Given the description of an element on the screen output the (x, y) to click on. 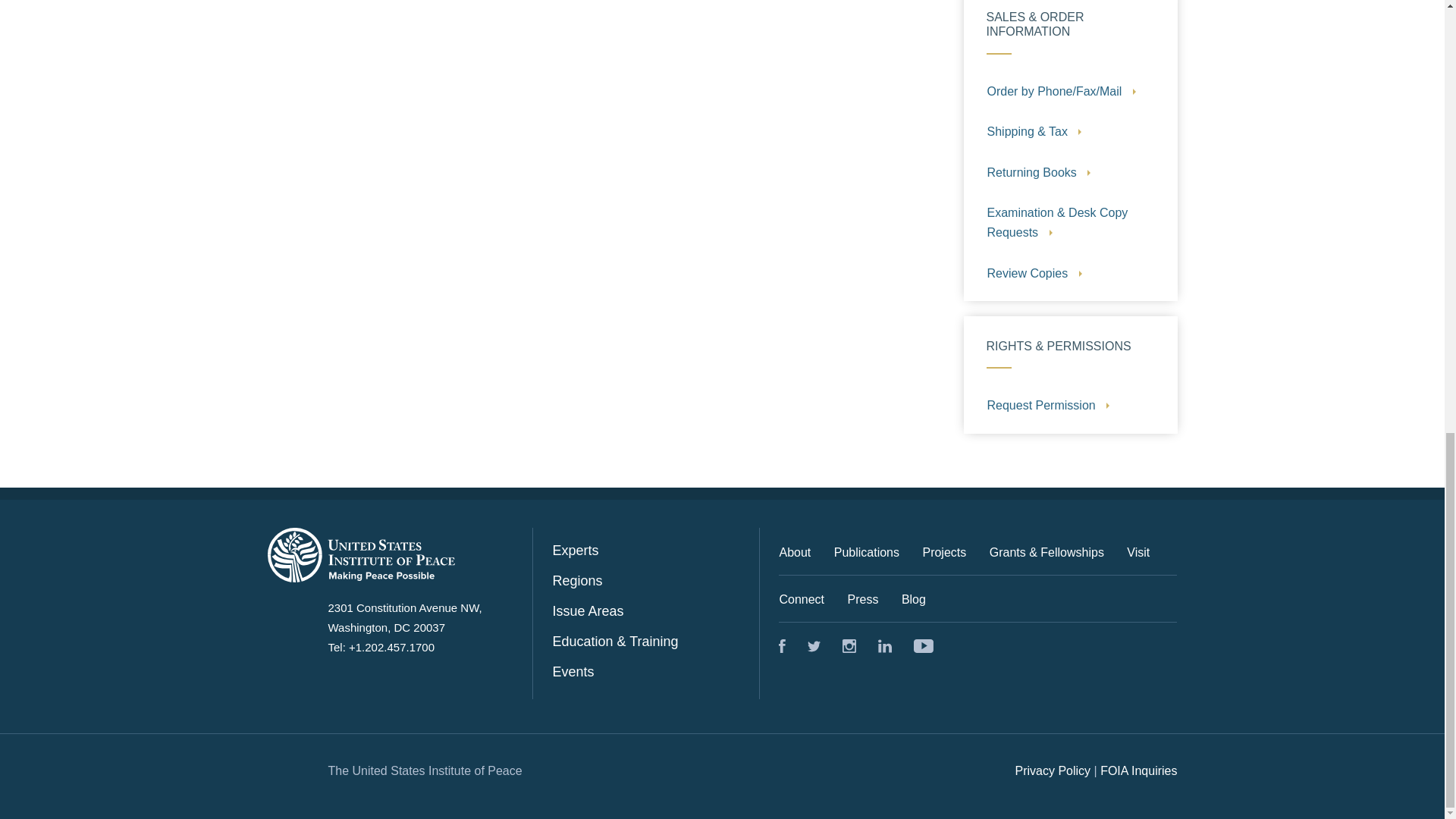
usinstituteofpeace (923, 645)
United States Institute of Peace (884, 645)
